Given the description of an element on the screen output the (x, y) to click on. 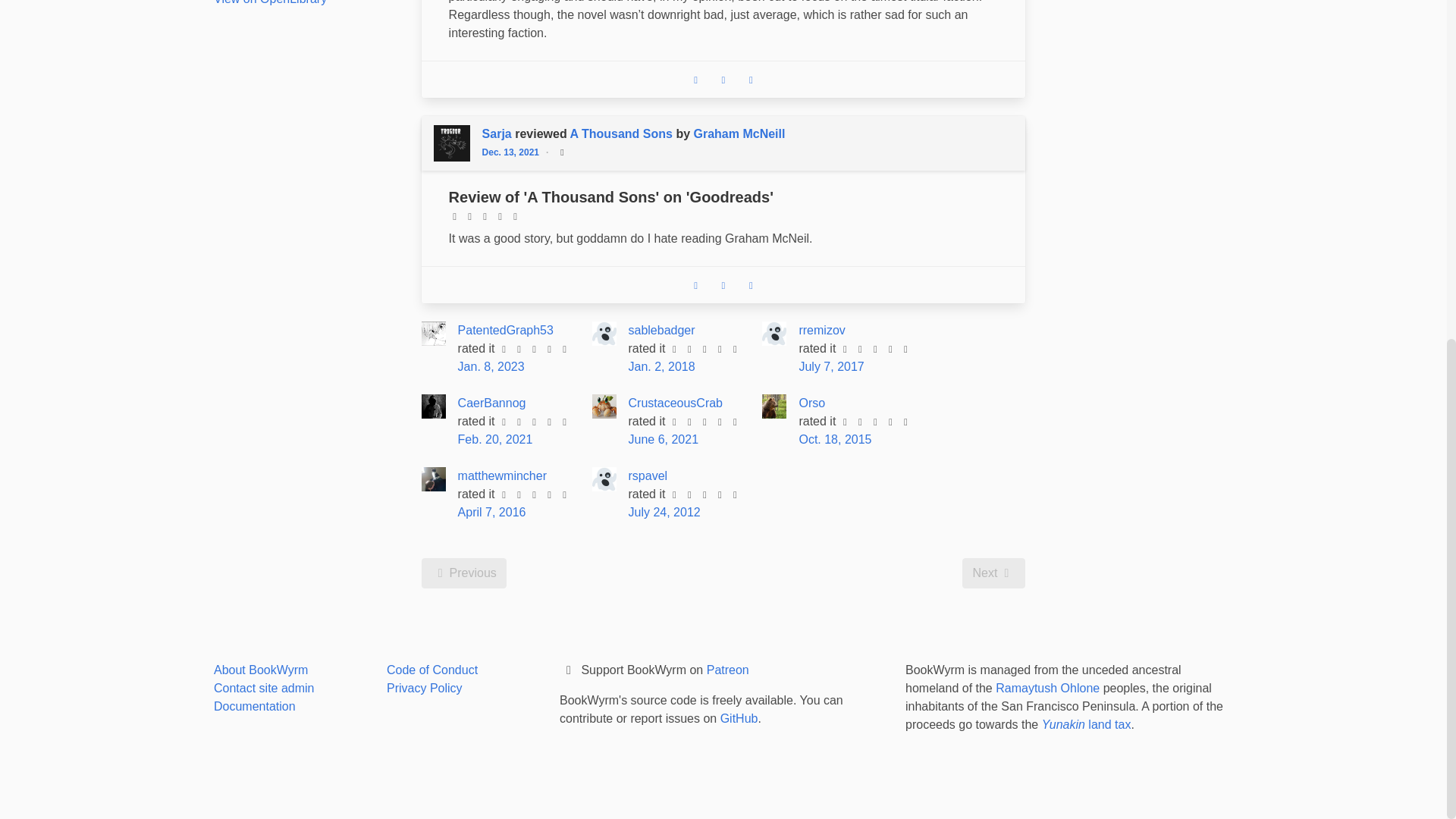
July 7, 2017 (830, 366)
Like status (750, 79)
Reply (695, 285)
sablebadger (723, 285)
Like status (661, 329)
rremizov (750, 285)
A Thousand Sons (820, 329)
Boost status (621, 133)
Public (723, 285)
June 6, 2021 (561, 151)
CaerBannog (663, 439)
Dec. 13, 2021 (491, 402)
CrustaceousCrab (513, 151)
Jan. 2, 2018 (675, 402)
